Given the description of an element on the screen output the (x, y) to click on. 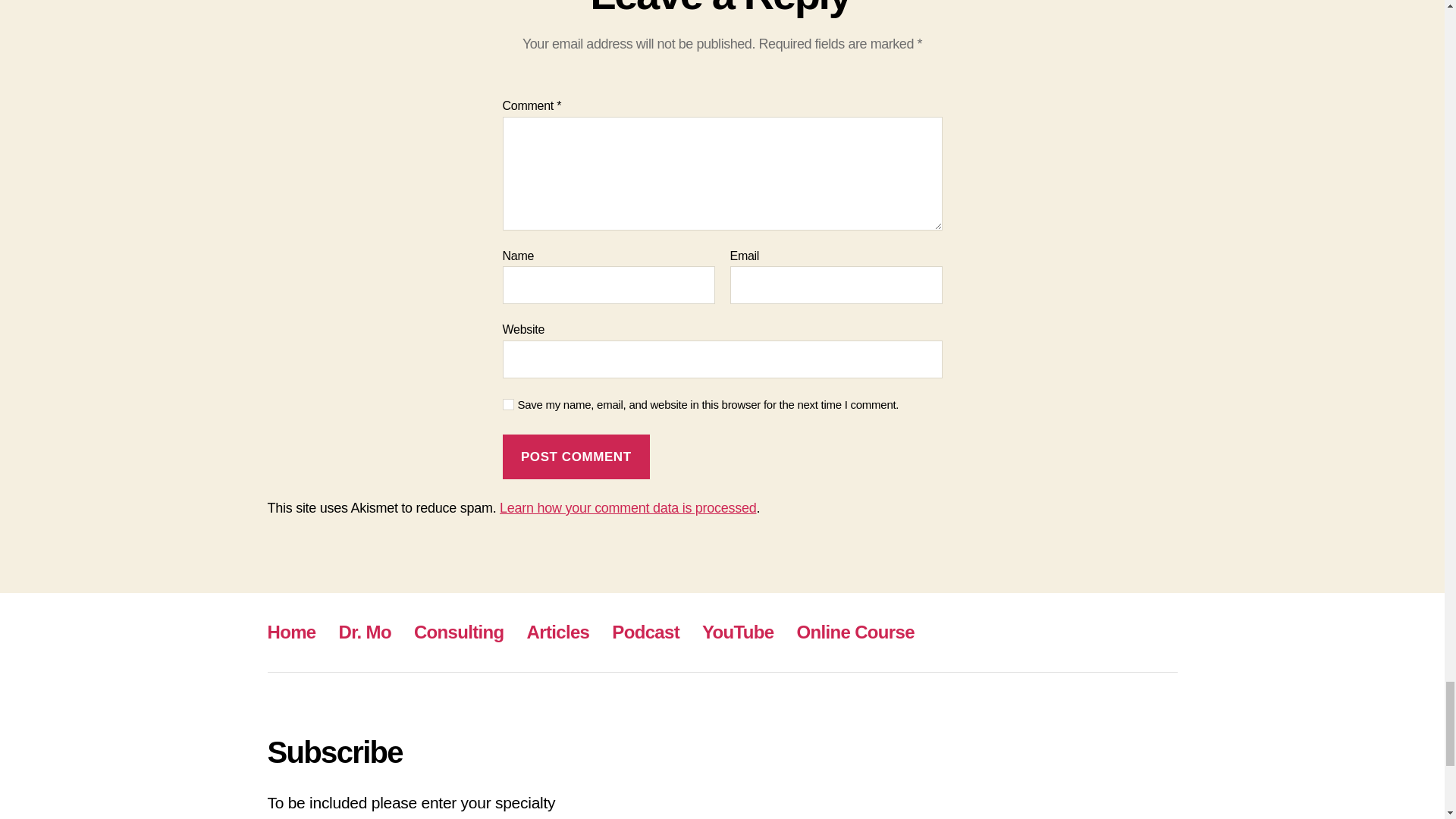
yes (507, 404)
A little about me and my timeline. (365, 631)
Post Comment (575, 456)
